Given the description of an element on the screen output the (x, y) to click on. 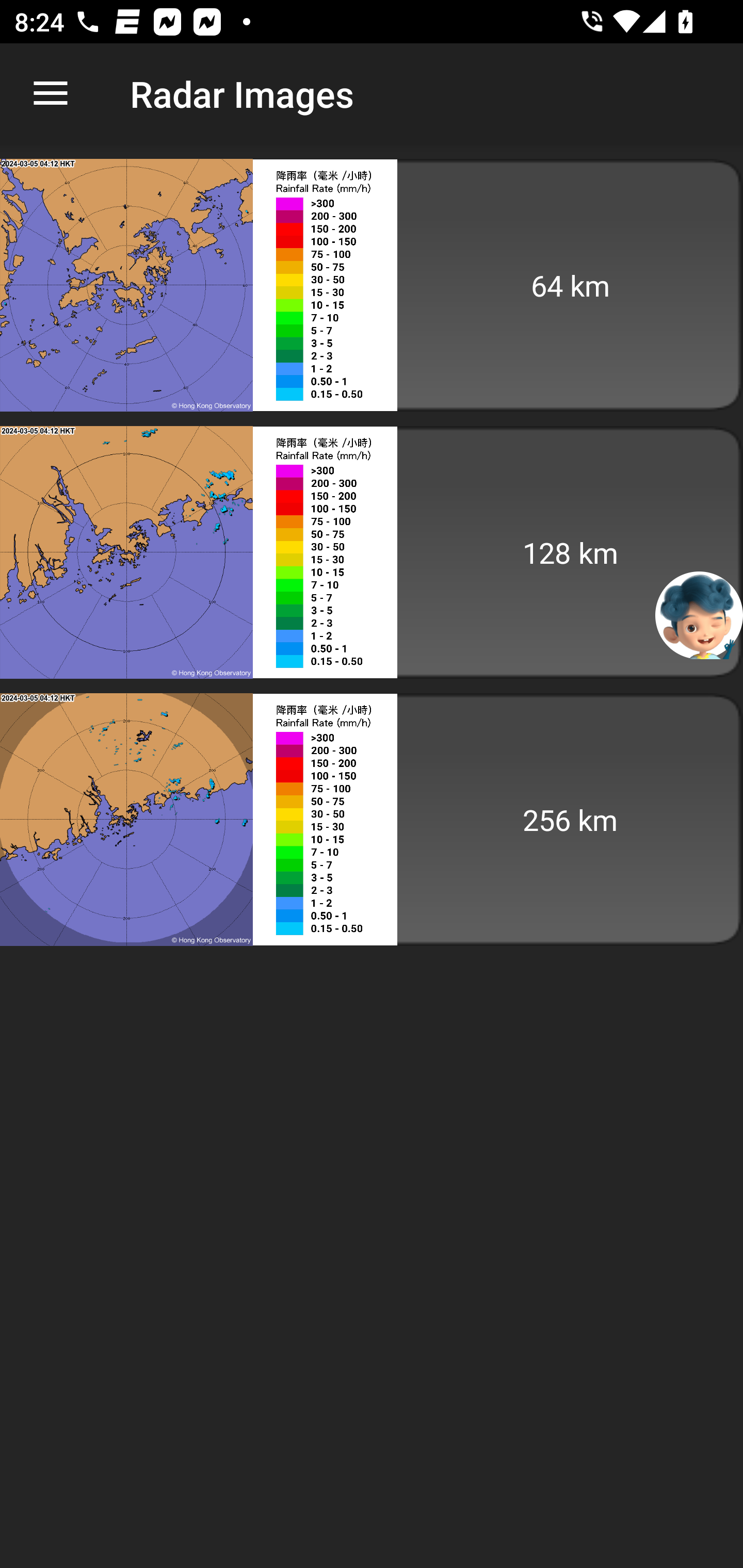
Navigate up (50, 93)
64 km (371, 284)
128 km (371, 552)
Chatbot (699, 614)
256 km (371, 819)
